Given the description of an element on the screen output the (x, y) to click on. 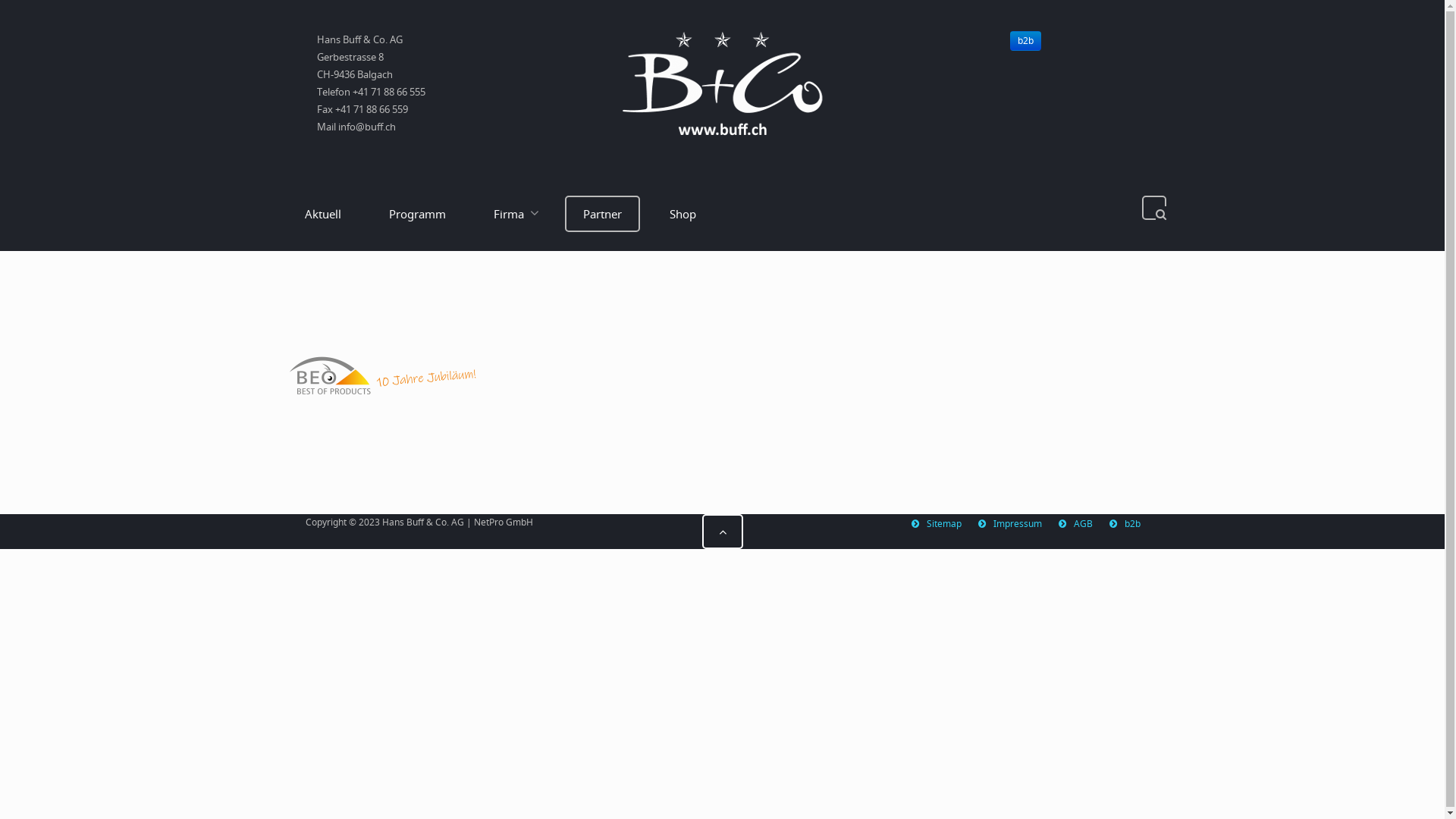
Impressum Element type: text (1009, 523)
Aktuell Element type: text (322, 213)
Sitemap Element type: text (936, 523)
b2b Element type: text (1025, 40)
Programm Element type: text (416, 213)
Partner Element type: text (601, 213)
Firma Element type: text (513, 213)
b2b Element type: text (1123, 523)
AGB Element type: text (1075, 523)
Shop Element type: text (682, 213)
